Given the description of an element on the screen output the (x, y) to click on. 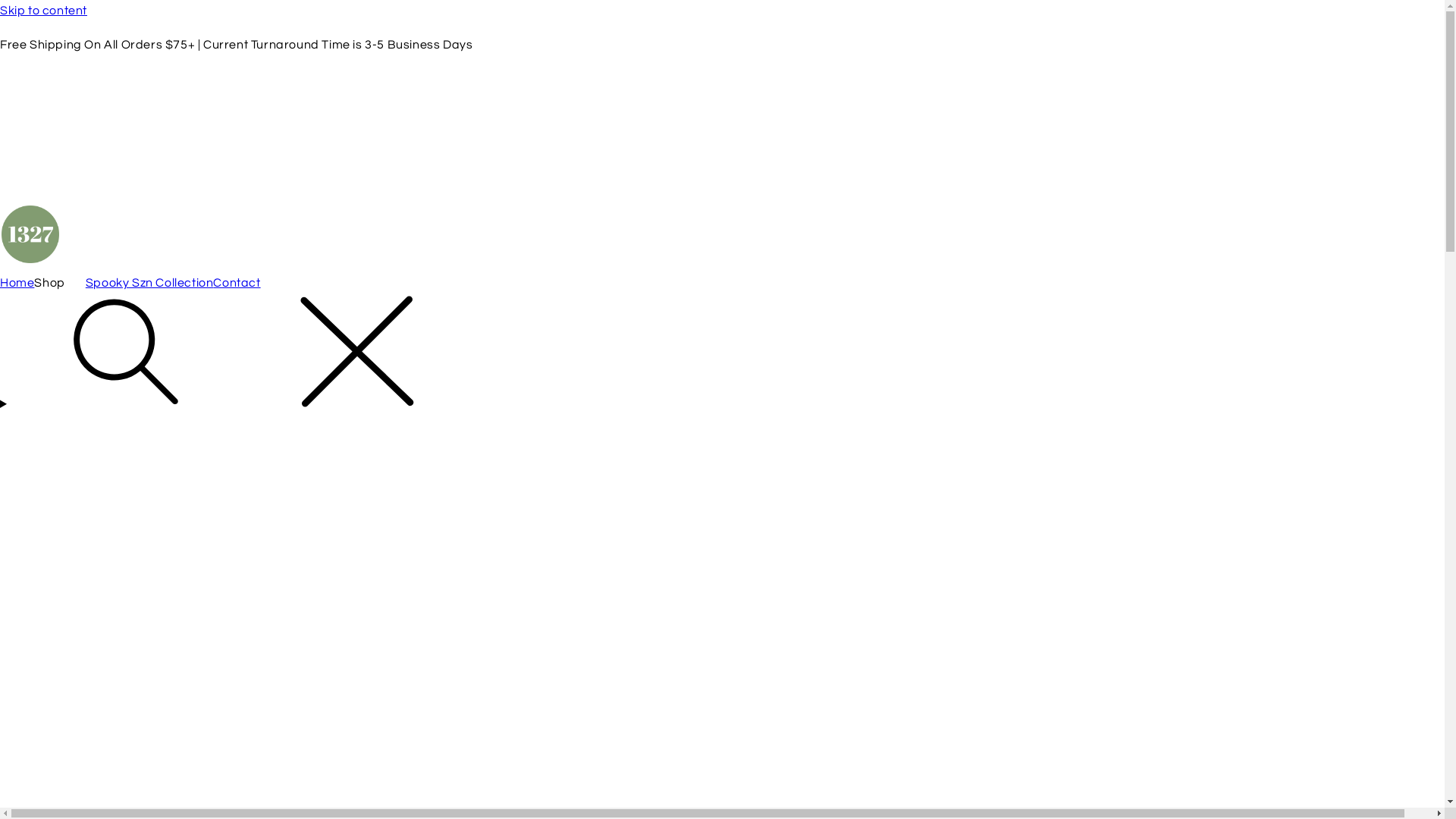
Home Element type: text (17, 283)
Contact Element type: text (236, 283)
Spooky Szn Collection Element type: text (149, 283)
Skip to content Element type: text (722, 10)
